Given the description of an element on the screen output the (x, y) to click on. 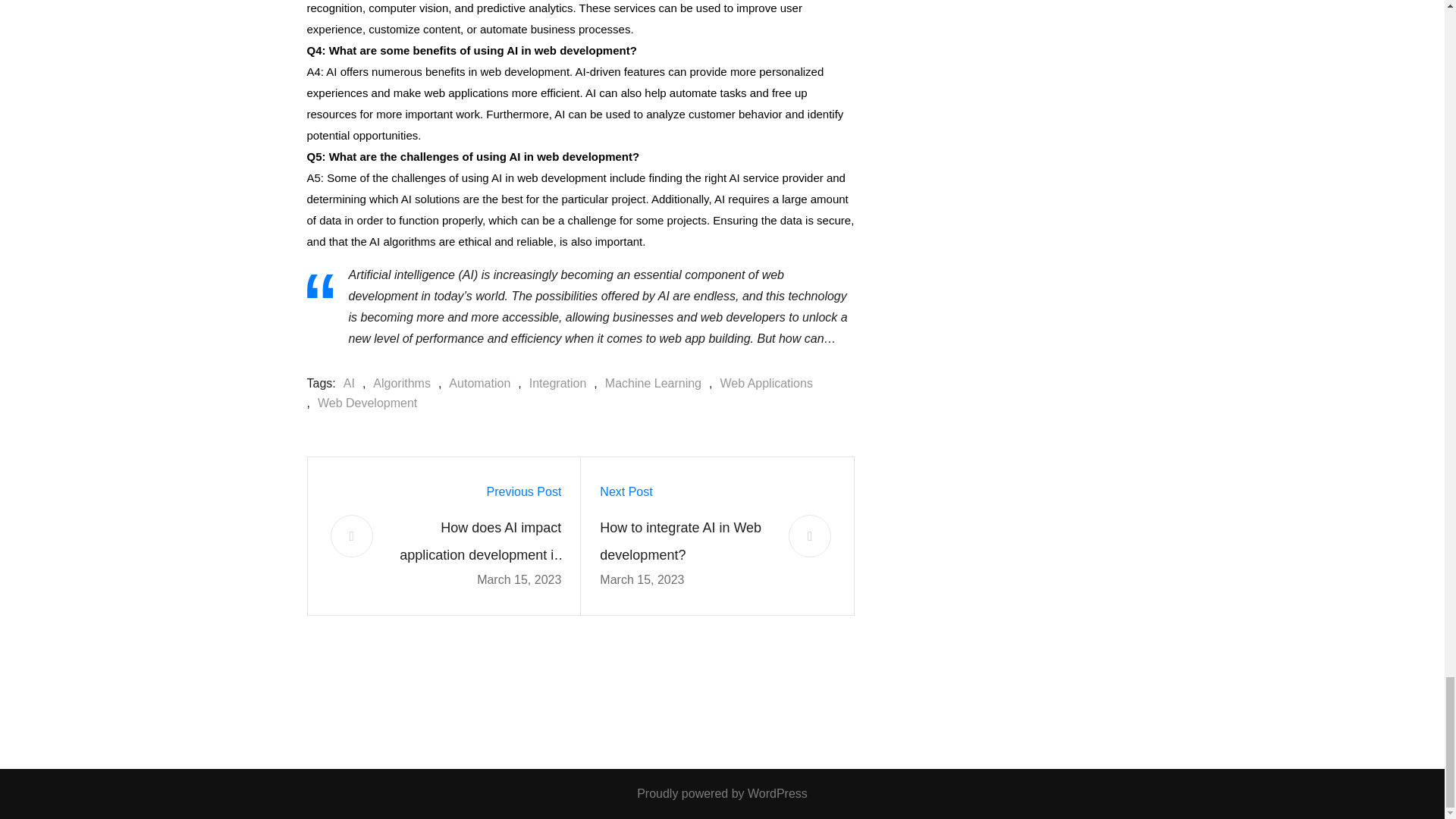
Integration (553, 383)
Web Development (363, 403)
Automation (476, 383)
Web Applications (761, 383)
How does AI impact application development in future? (475, 541)
March 15, 2023 (518, 579)
Machine Learning (648, 383)
AI (345, 383)
How to integrate AI in Web development? (684, 541)
March 15, 2023 (641, 579)
Algorithms (397, 383)
